Given the description of an element on the screen output the (x, y) to click on. 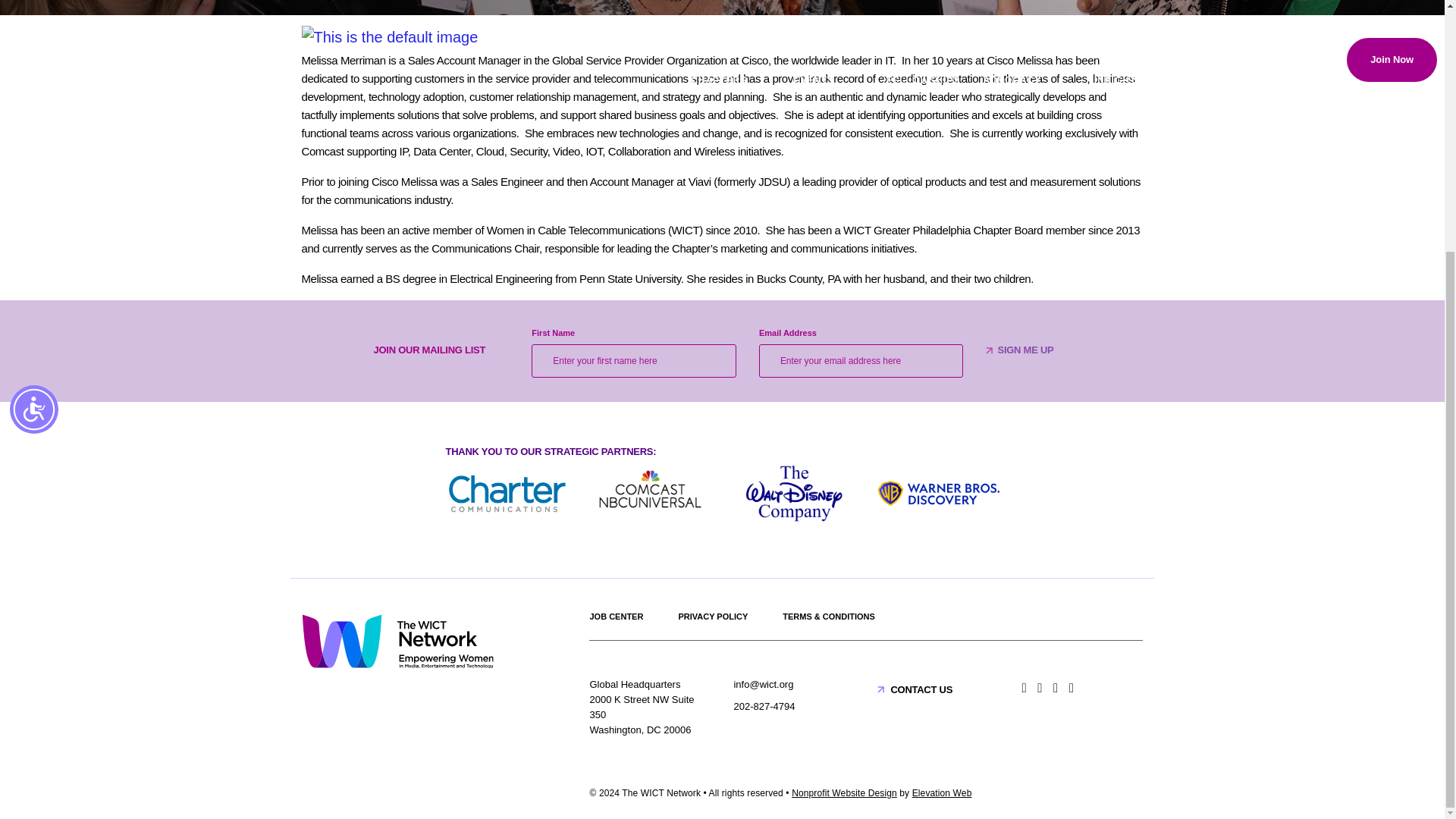
Accessibility Menu (34, 54)
Sign Me up (1024, 350)
